Given the description of an element on the screen output the (x, y) to click on. 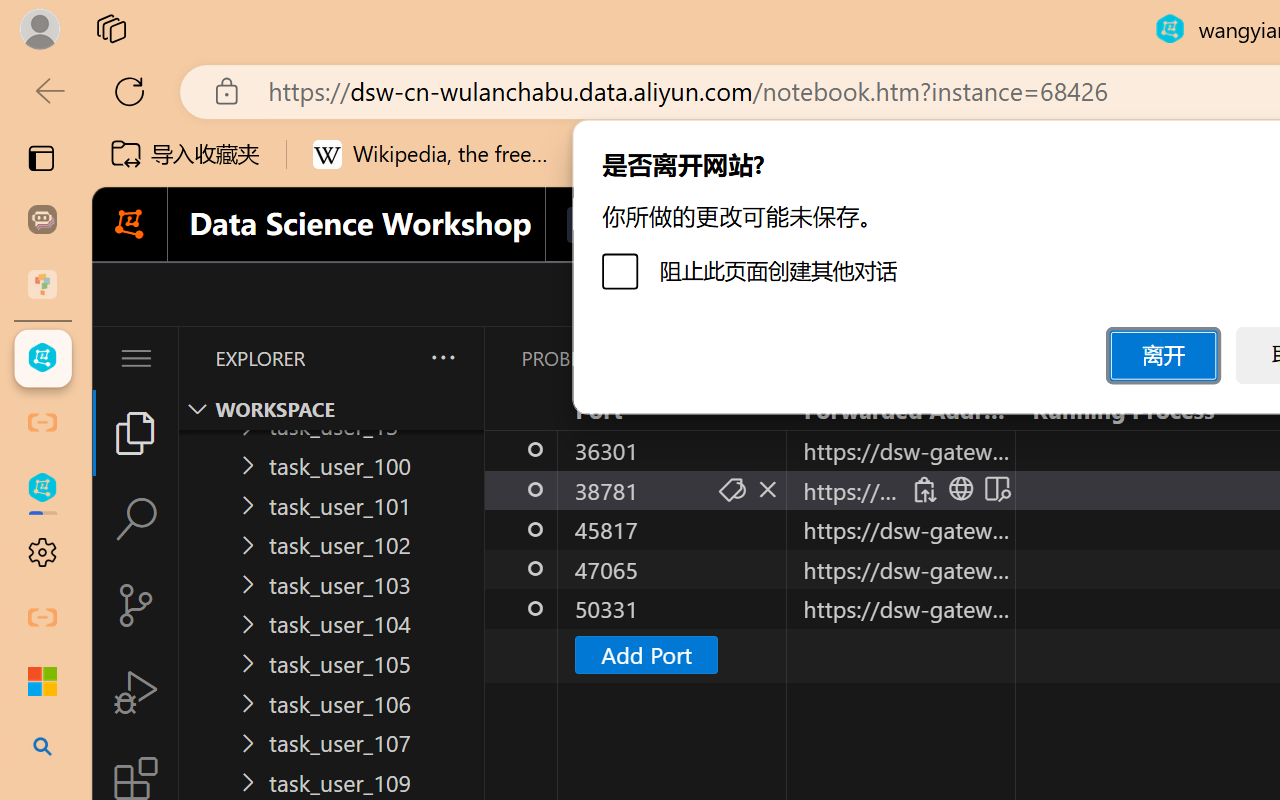
Search (Ctrl+Shift+F) (135, 519)
Add Port (645, 654)
Explorer actions (390, 358)
Explorer (Ctrl+Shift+E) (135, 432)
wangyian_dsw - DSW (42, 357)
Microsoft security help and learning (42, 681)
